Given the description of an element on the screen output the (x, y) to click on. 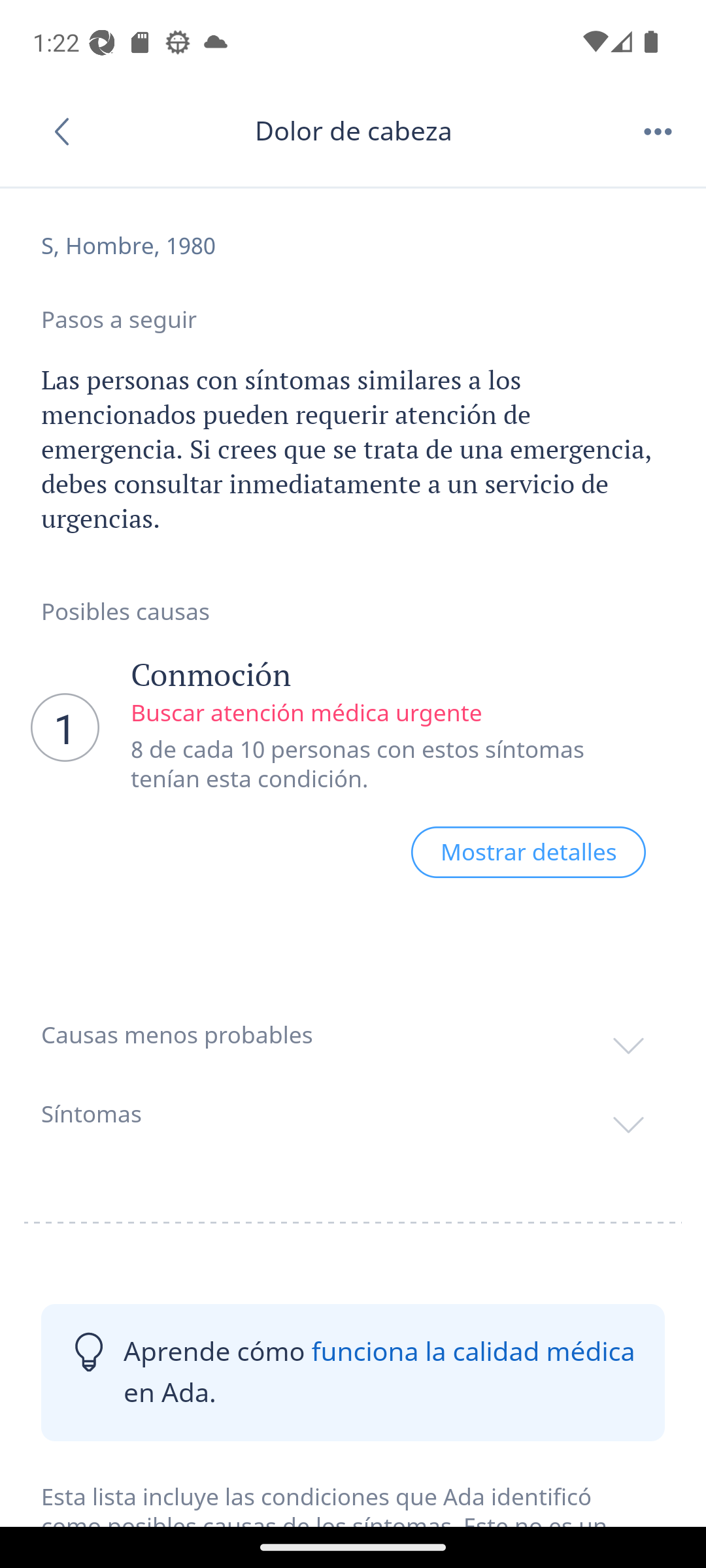
Go back, Navigates to the previous screen (68, 131)
Mostrar detalles (527, 851)
Causas menos probables  (352, 1034)
Síntomas  (352, 1113)
Aprende cómo funciona la calidad médica en Ada. (352, 1372)
